Given the description of an element on the screen output the (x, y) to click on. 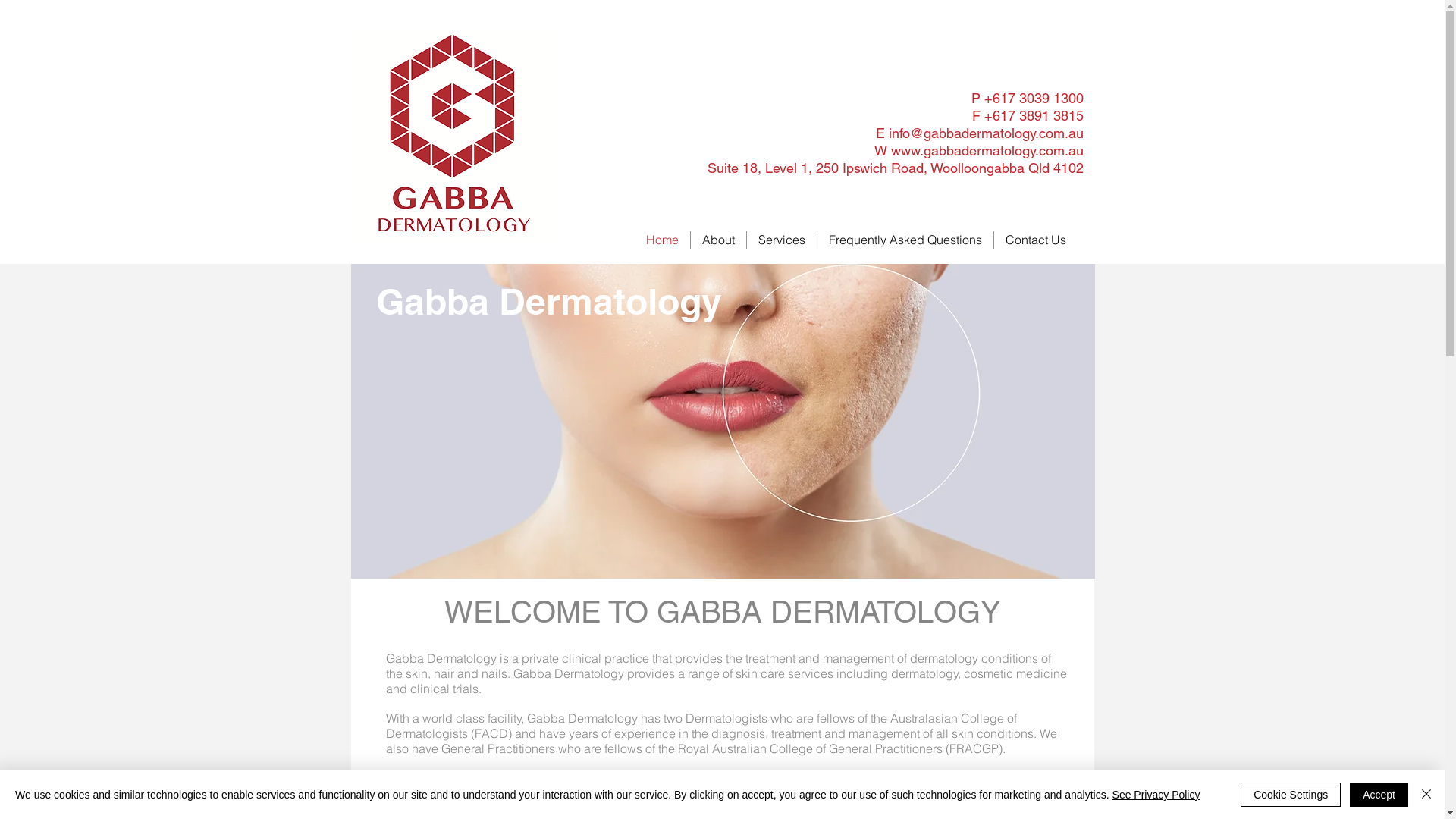
info@gabbadermatology.com.au Element type: text (985, 133)
Home Element type: text (662, 239)
See Privacy Policy Element type: text (1156, 794)
About Element type: text (718, 239)
Contact Us Element type: text (1035, 239)
Frequently Asked Questions Element type: text (905, 239)
Cookie Settings Element type: text (1290, 794)
Services Element type: text (781, 239)
www.gabbadermatology.com.au Element type: text (986, 150)
Gabba Derm.jpg Element type: hover (453, 135)
Suite 18, Level 1, 250 Ipswich Road, Woolloongabba Qld 4102 Element type: text (894, 167)
Accept Element type: text (1378, 794)
+617 3039 1300 Element type: text (1033, 98)
Dermatologists can help Element type: hover (722, 420)
